Given the description of an element on the screen output the (x, y) to click on. 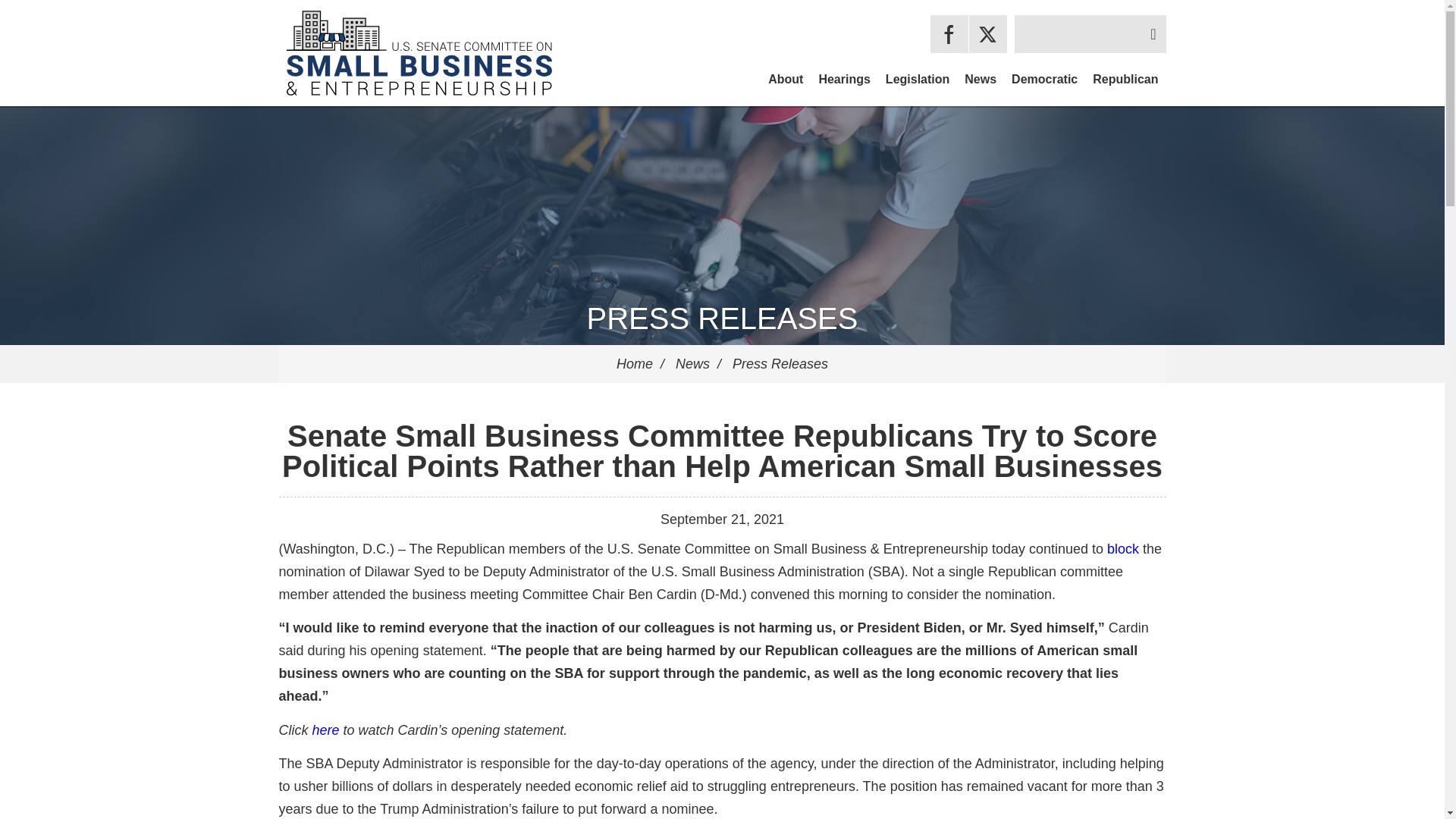
Home (633, 363)
Twitter (988, 34)
Hearings (843, 79)
Facebook (949, 34)
Democratic (1044, 79)
About (785, 79)
News (980, 79)
PRESS RELEASES (722, 318)
Republican (1125, 79)
Legislation (916, 79)
